Given the description of an element on the screen output the (x, y) to click on. 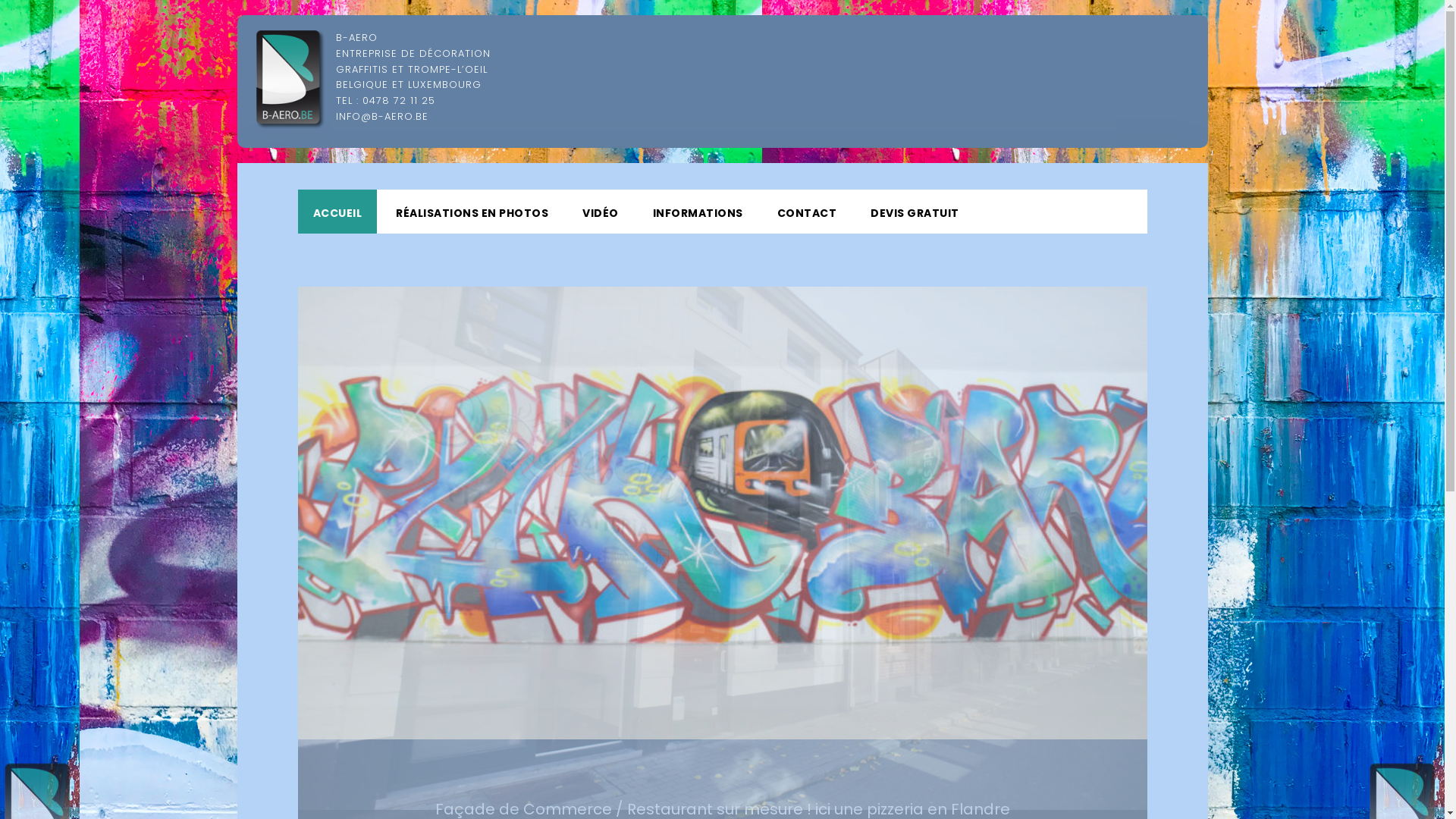
Skip to primary navigation Element type: text (297, 163)
INFORMATIONS Element type: text (697, 211)
ACCUEIL Element type: text (336, 211)
DEVIS GRATUIT Element type: text (914, 211)
CONTACT Element type: text (806, 211)
